Given the description of an element on the screen output the (x, y) to click on. 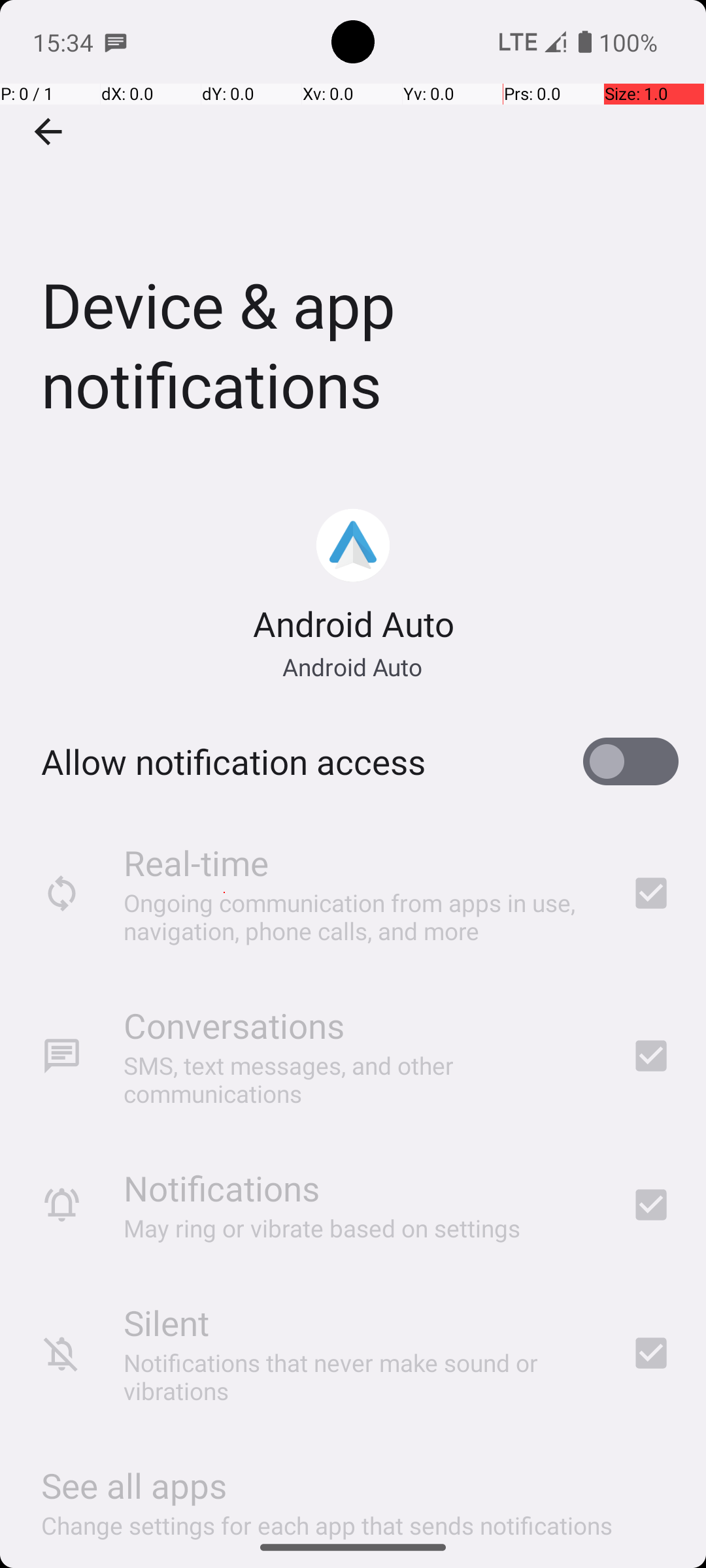
Allow notification access Element type: android.widget.TextView (233, 761)
Real-time Element type: android.widget.TextView (195, 862)
Ongoing communication from apps in use, navigation, phone calls, and more Element type: android.widget.TextView (359, 916)
SMS, text messages, and other communications Element type: android.widget.TextView (359, 1079)
May ring or vibrate based on settings Element type: android.widget.TextView (322, 1227)
Silent Element type: android.widget.TextView (166, 1322)
Notifications that never make sound or vibrations Element type: android.widget.TextView (359, 1376)
See all apps Element type: android.widget.TextView (133, 1485)
Change settings for each app that sends notifications Element type: android.widget.TextView (326, 1517)
